Given the description of an element on the screen output the (x, y) to click on. 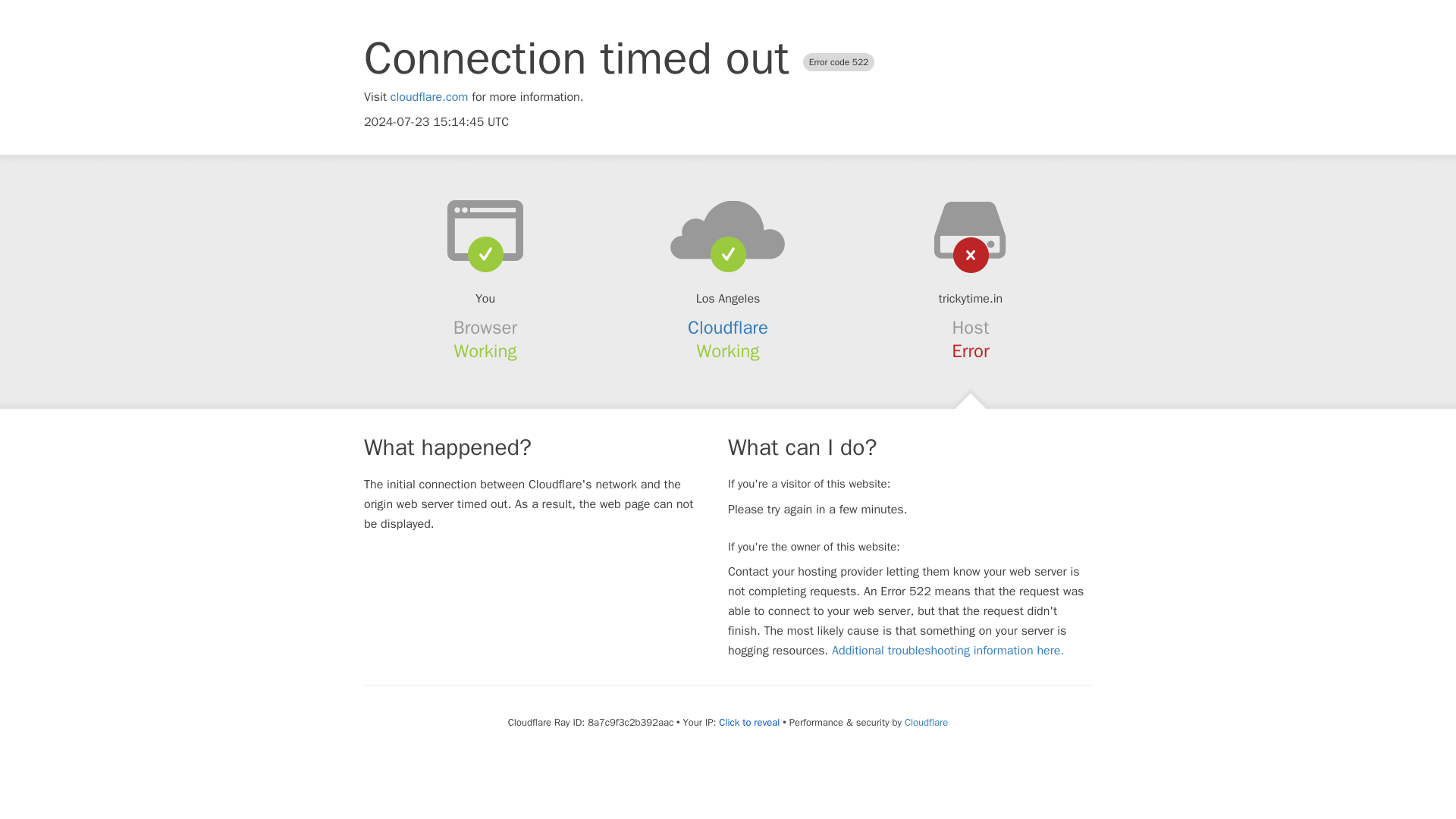
Cloudflare (727, 327)
cloudflare.com (429, 96)
Click to reveal (748, 722)
Cloudflare (925, 721)
Additional troubleshooting information here. (947, 650)
